Given the description of an element on the screen output the (x, y) to click on. 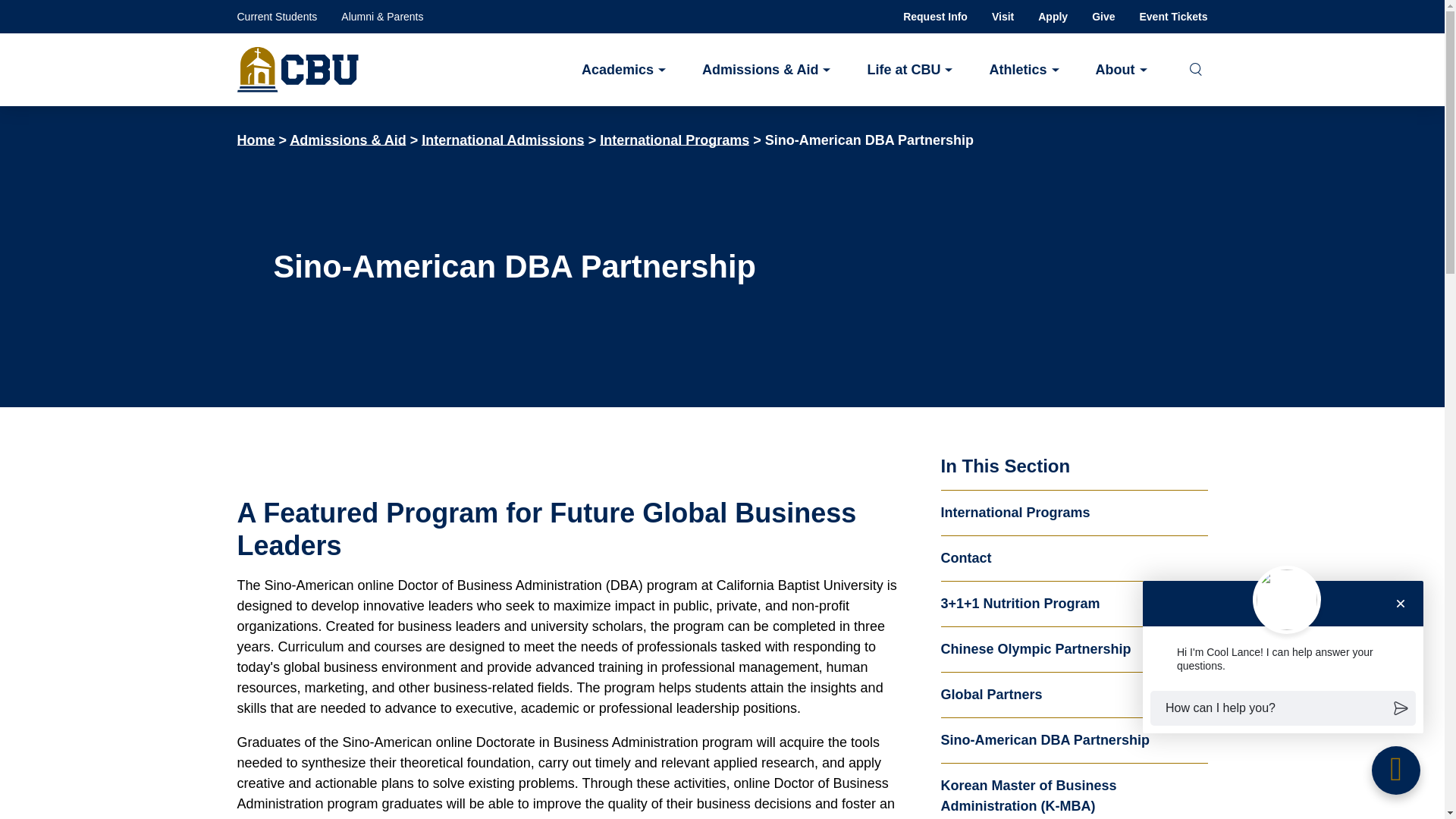
Academics (622, 68)
Skip to main content (721, 22)
CBU (296, 69)
Life at CBU (909, 68)
